Given the description of an element on the screen output the (x, y) to click on. 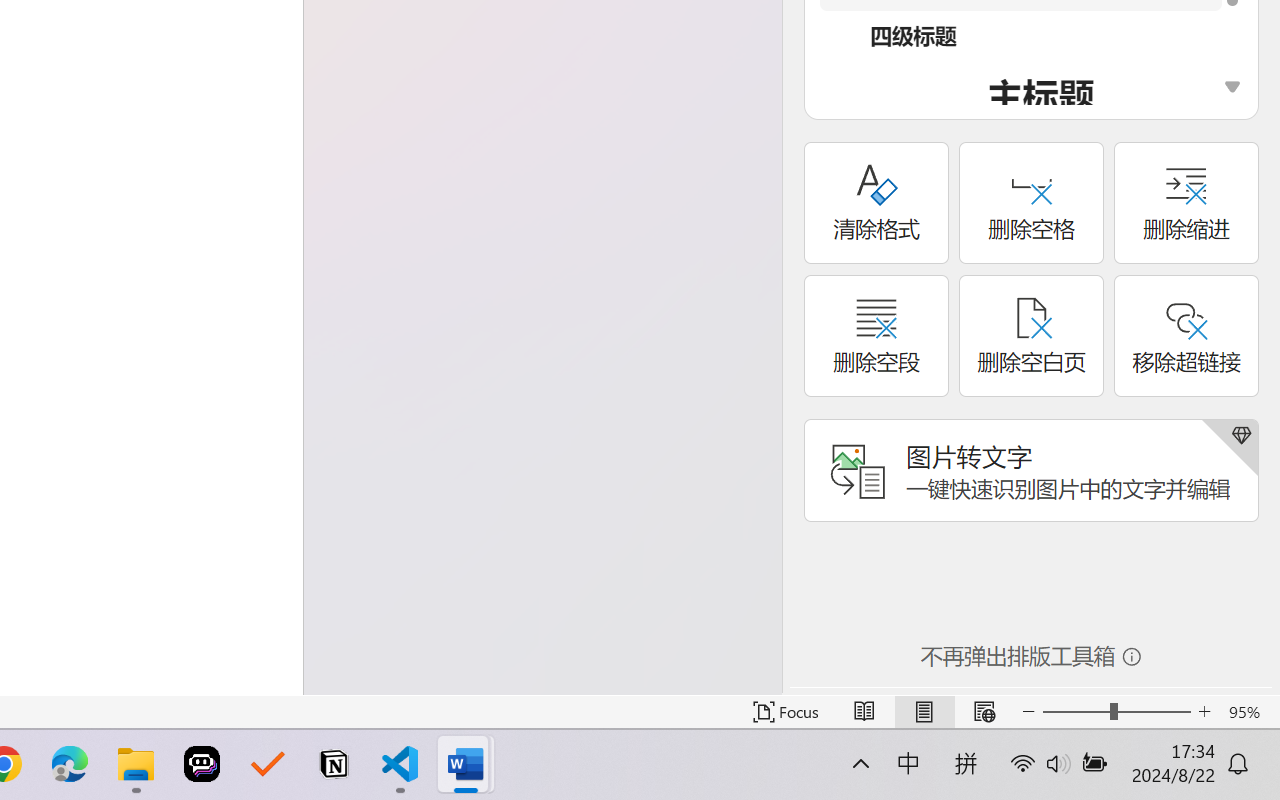
Zoom 95% (1249, 712)
